Given the description of an element on the screen output the (x, y) to click on. 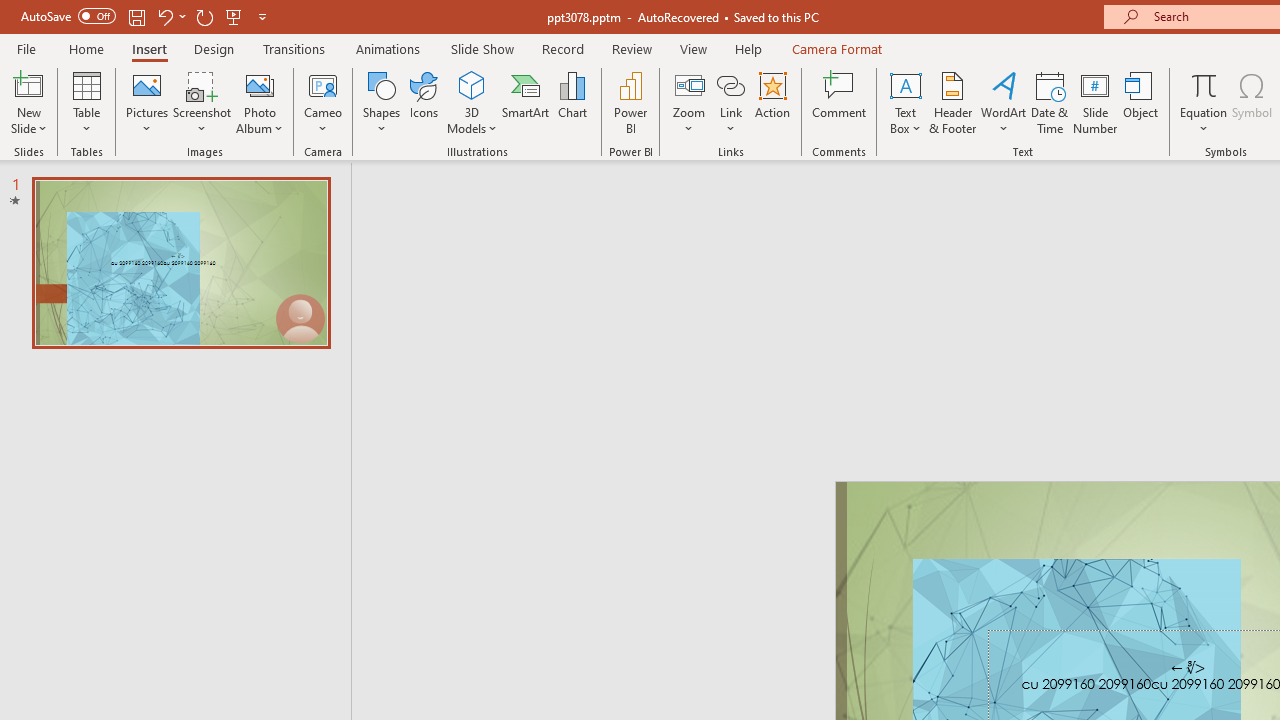
Date & Time... (1050, 102)
Slide Number (1095, 102)
Table (86, 102)
Object... (1141, 102)
Screenshot (202, 102)
Icons (424, 102)
Photo Album... (259, 102)
